Given the description of an element on the screen output the (x, y) to click on. 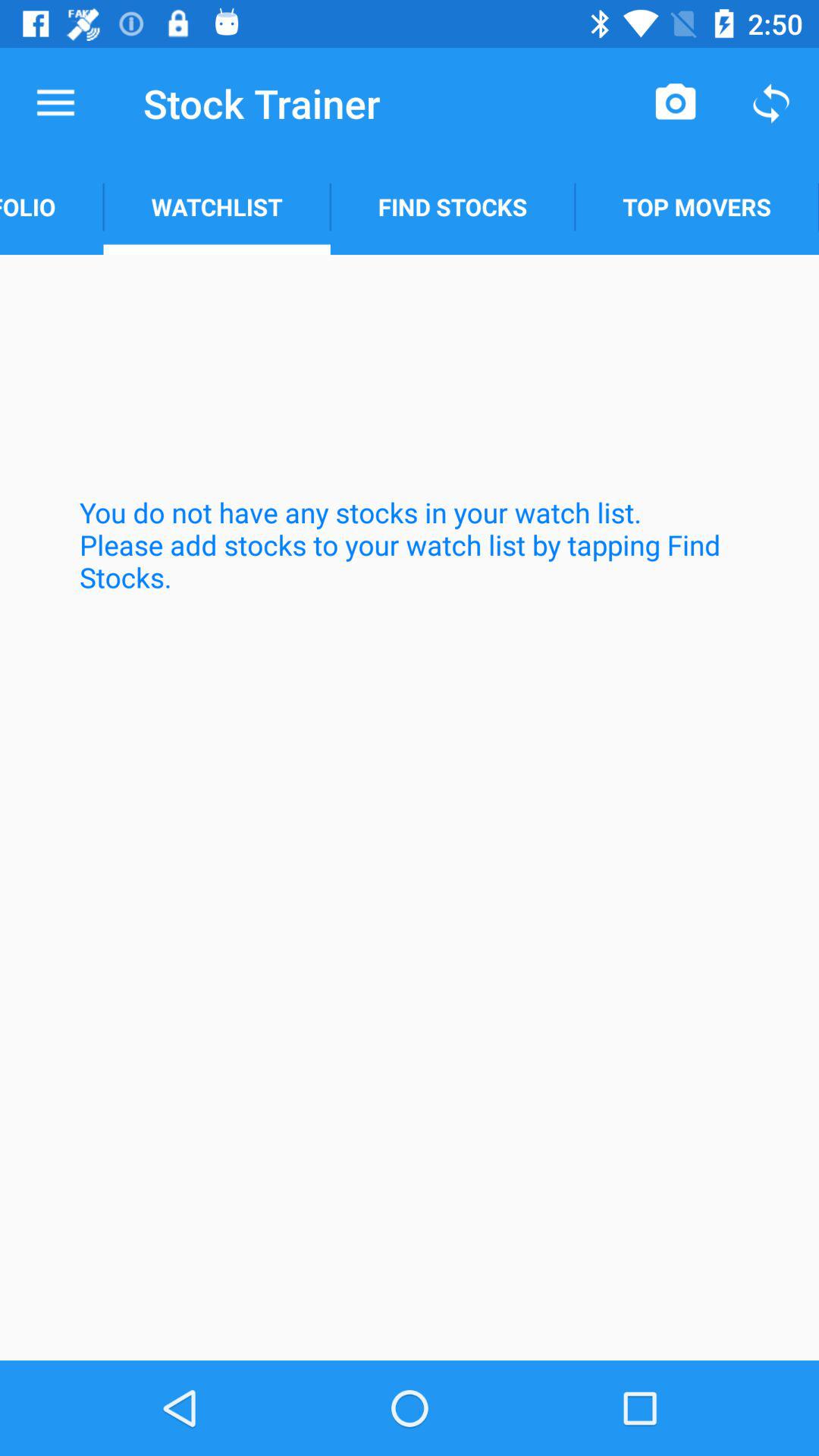
click the icon next to the stock trainer (55, 103)
